Given the description of an element on the screen output the (x, y) to click on. 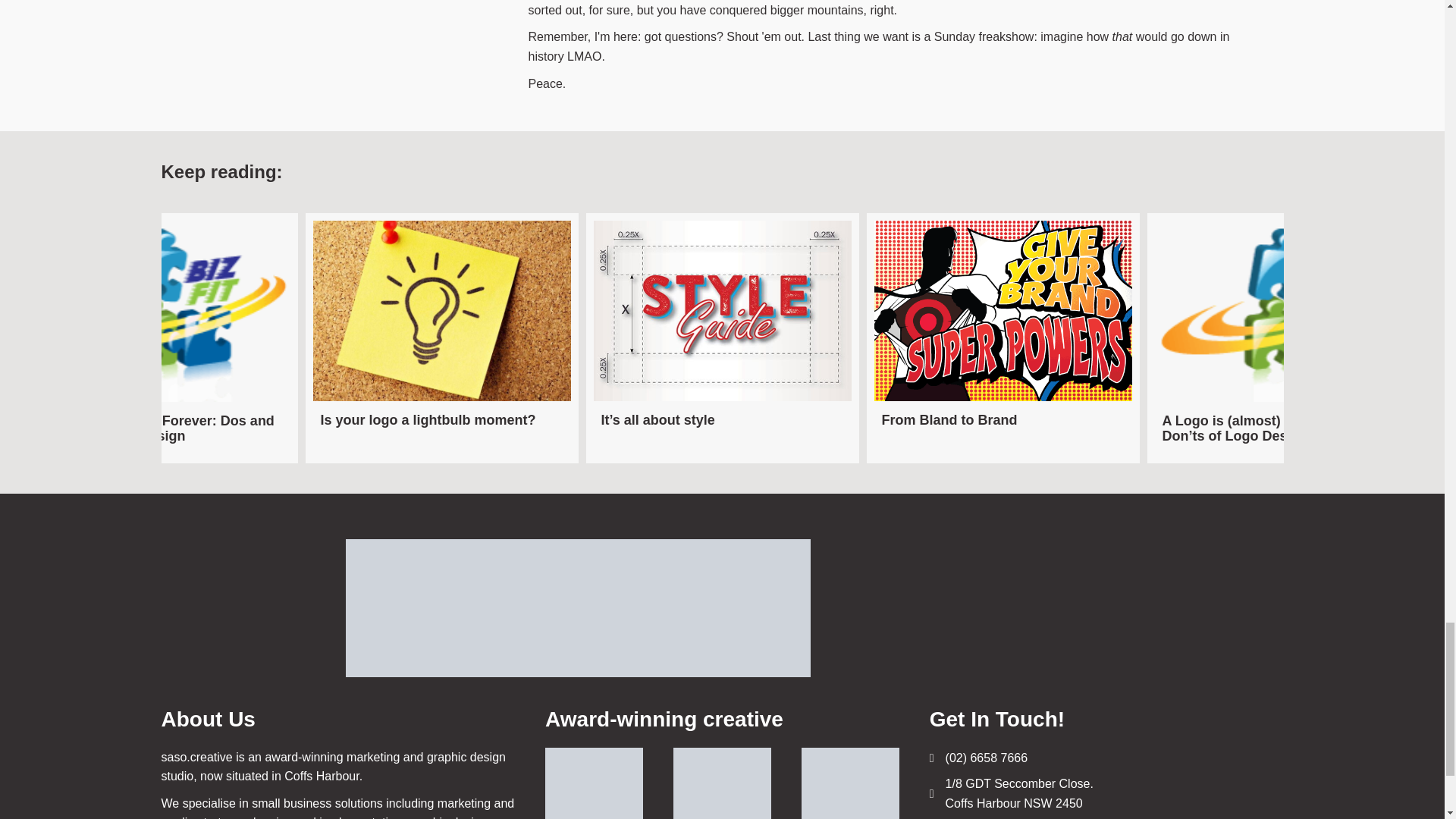
Jigsaw-04 (160, 311)
